Given the description of an element on the screen output the (x, y) to click on. 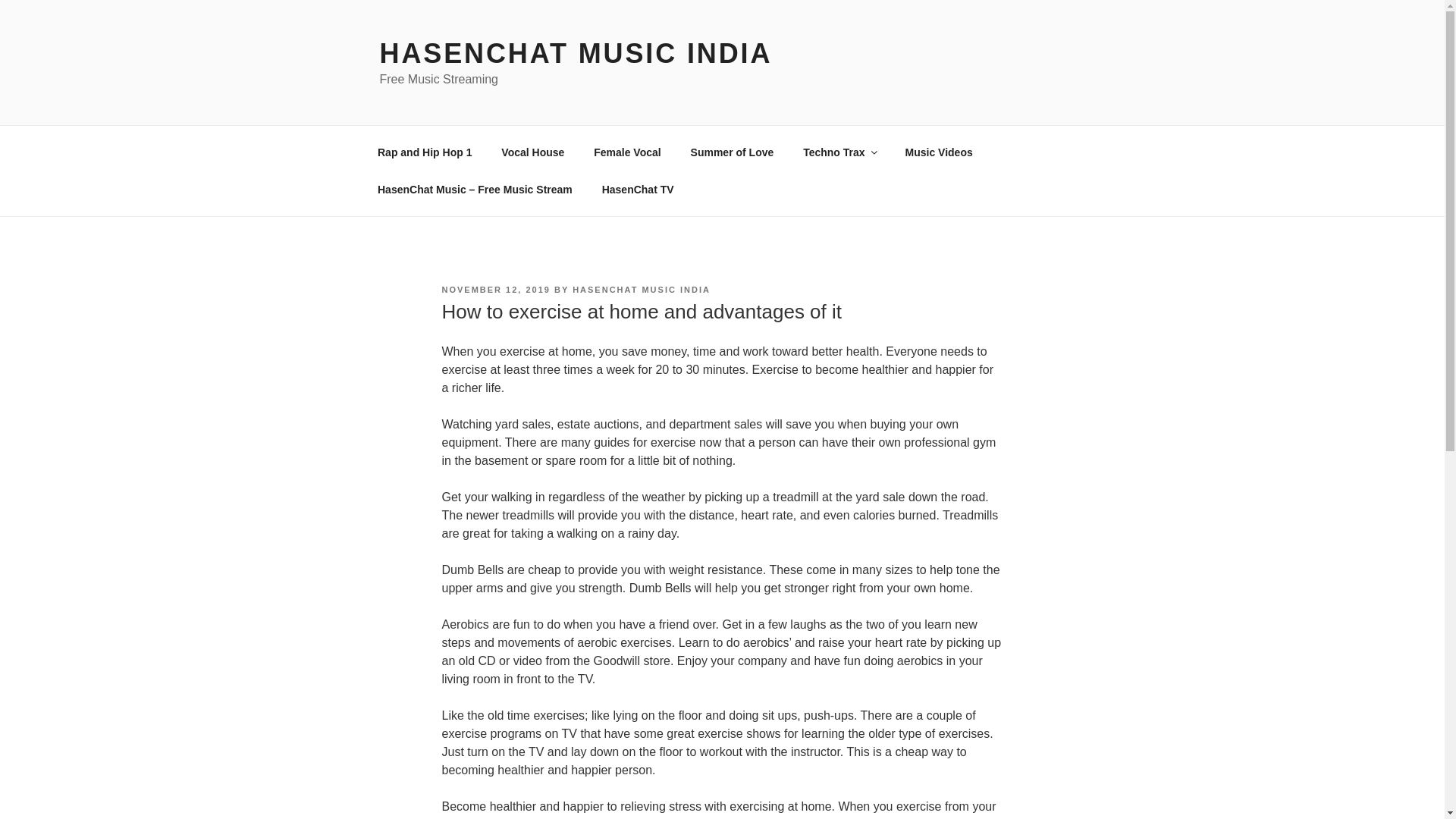
HasenChat TV (637, 189)
HASENCHAT MUSIC INDIA (574, 52)
Female Vocal (627, 151)
HASENCHAT MUSIC INDIA (641, 289)
Summer of Love (732, 151)
Vocal House (532, 151)
Rap and Hip Hop 1 (424, 151)
Music Videos (938, 151)
Techno Trax (839, 151)
NOVEMBER 12, 2019 (495, 289)
